Given the description of an element on the screen output the (x, y) to click on. 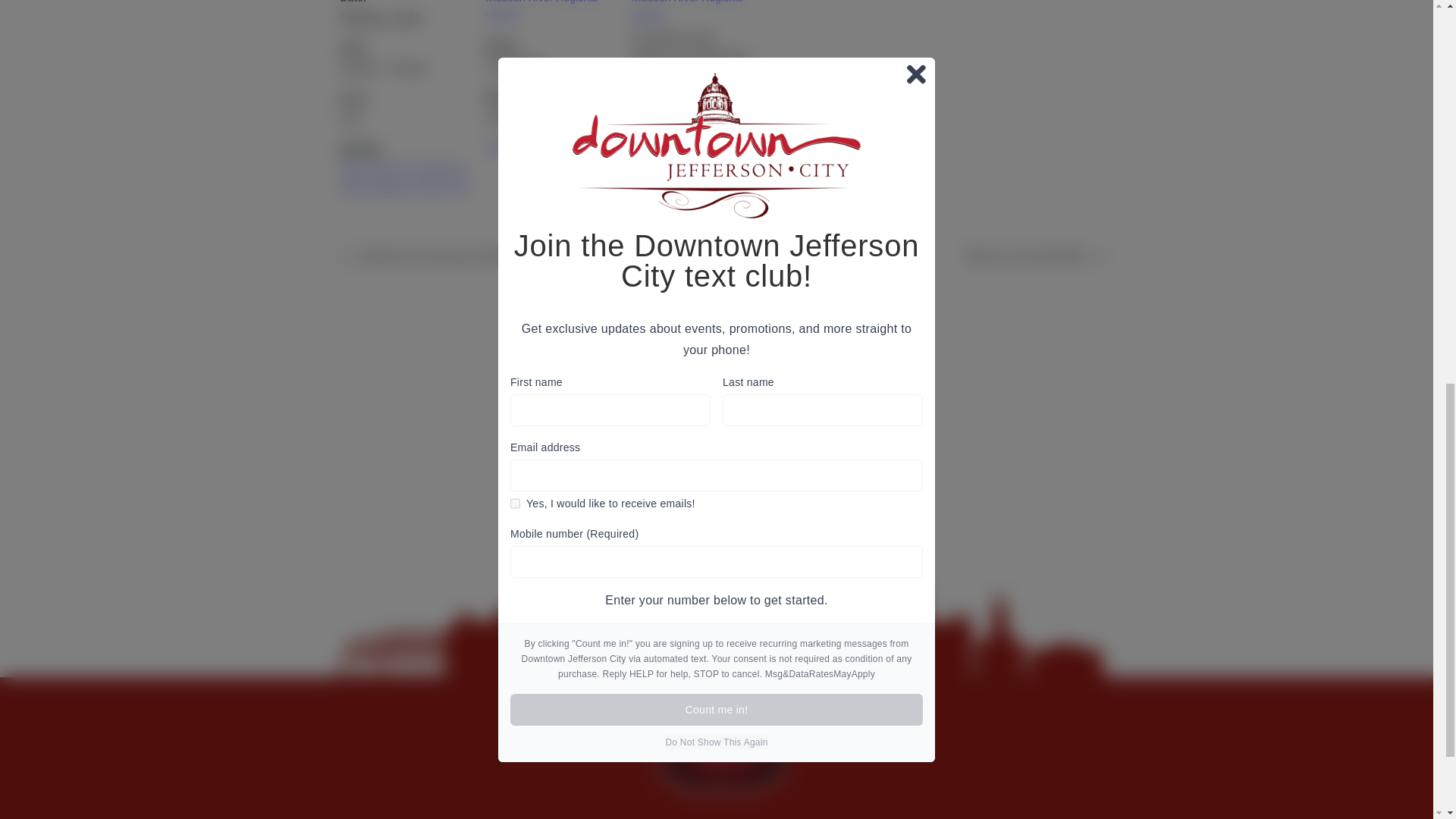
Click to view a Google Map (663, 78)
Missouri River Regional Library (540, 11)
Missouri River Regional Library (686, 11)
2023-02-02 (403, 68)
View Venue Website (679, 158)
Missouri River Regional Library (540, 11)
2023-02-02 (379, 18)
View Organizer Website (541, 146)
Missouri (710, 58)
Sign Up (878, 431)
